Given the description of an element on the screen output the (x, y) to click on. 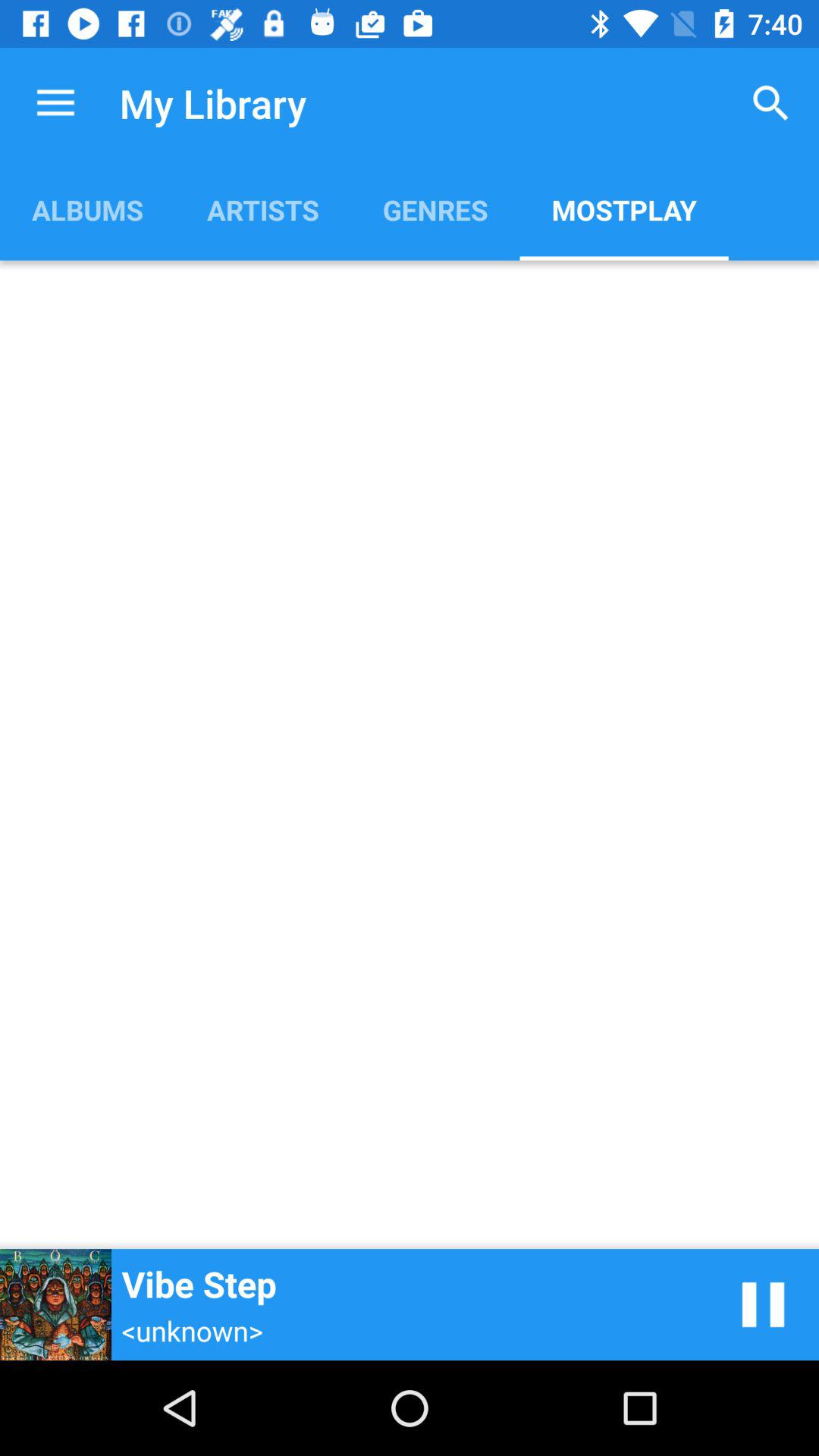
tap item next to the mostplay icon (434, 209)
